Given the description of an element on the screen output the (x, y) to click on. 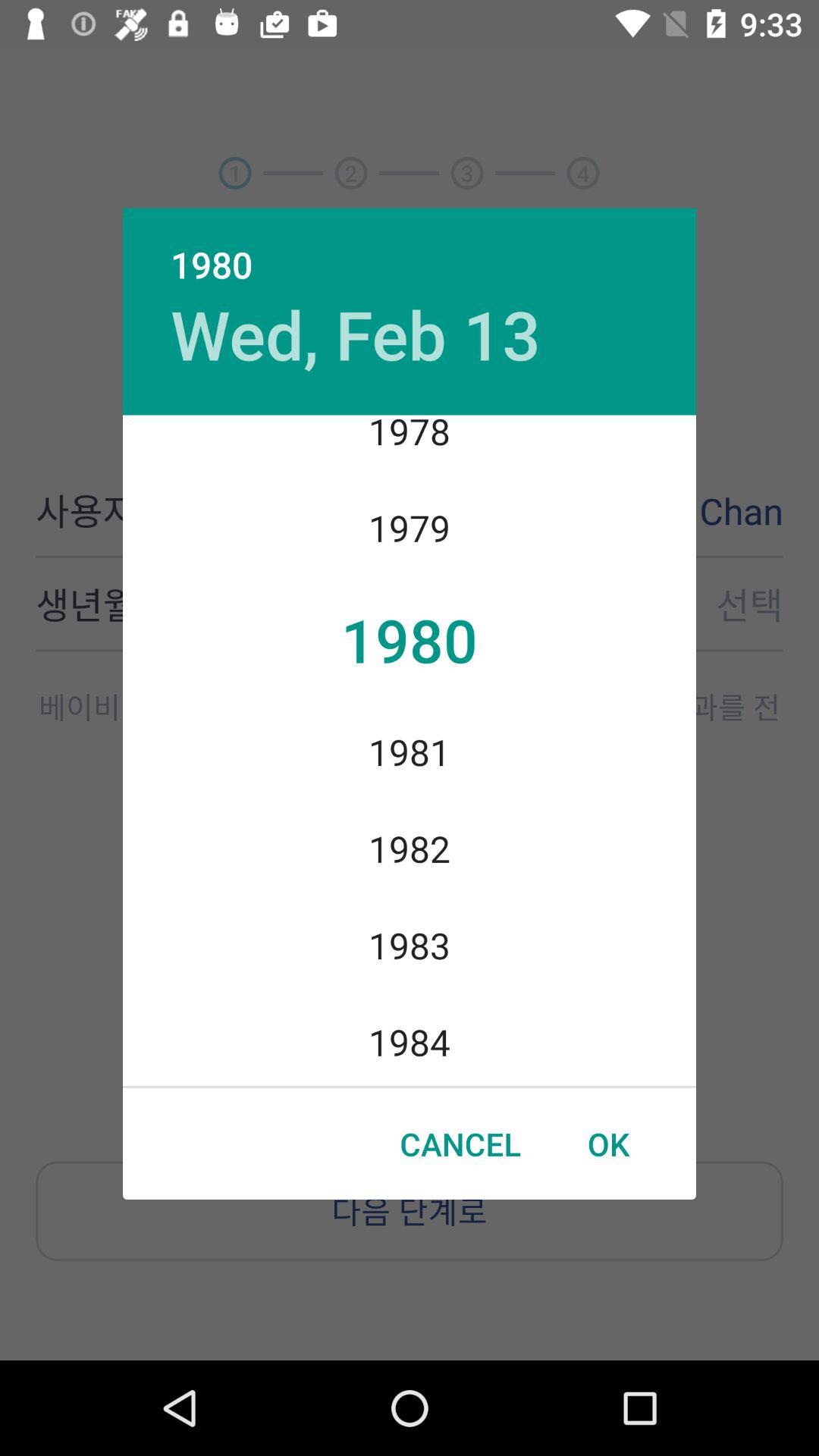
turn off wed, feb 13 icon (355, 333)
